Given the description of an element on the screen output the (x, y) to click on. 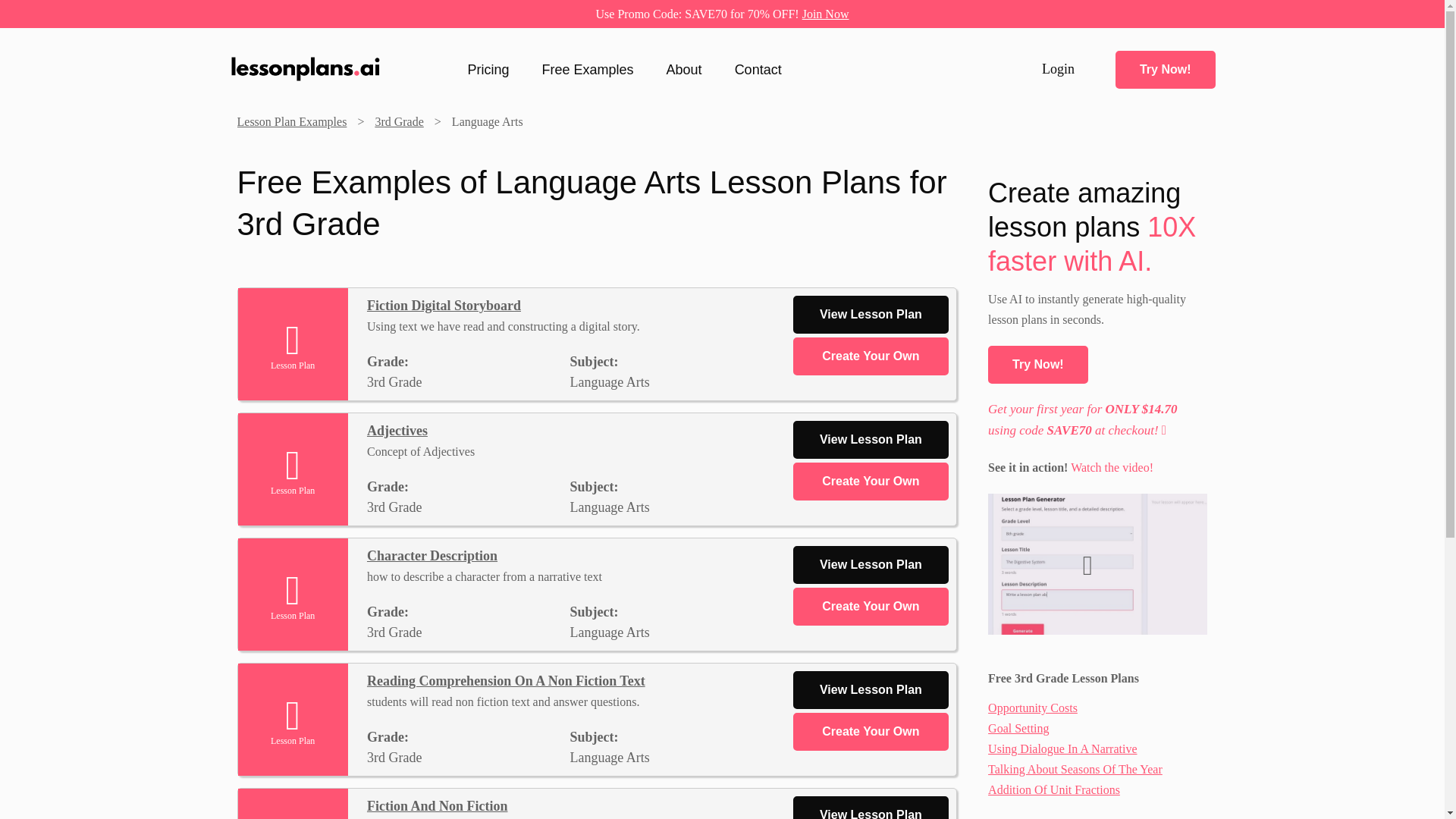
About (684, 69)
Character Description (431, 555)
Lesson Plan Examples (290, 121)
Create Your Own (871, 731)
Create Your Own (871, 606)
View Lesson Plan (871, 689)
Login (1058, 69)
Using Dialogue In A Narrative (1062, 748)
Create Your Own (871, 481)
Try Now! (1037, 364)
Free Examples (588, 69)
Pricing (488, 69)
Contact (757, 69)
Create Your Own (871, 356)
Fiction Digital Storyboard (443, 305)
